Given the description of an element on the screen output the (x, y) to click on. 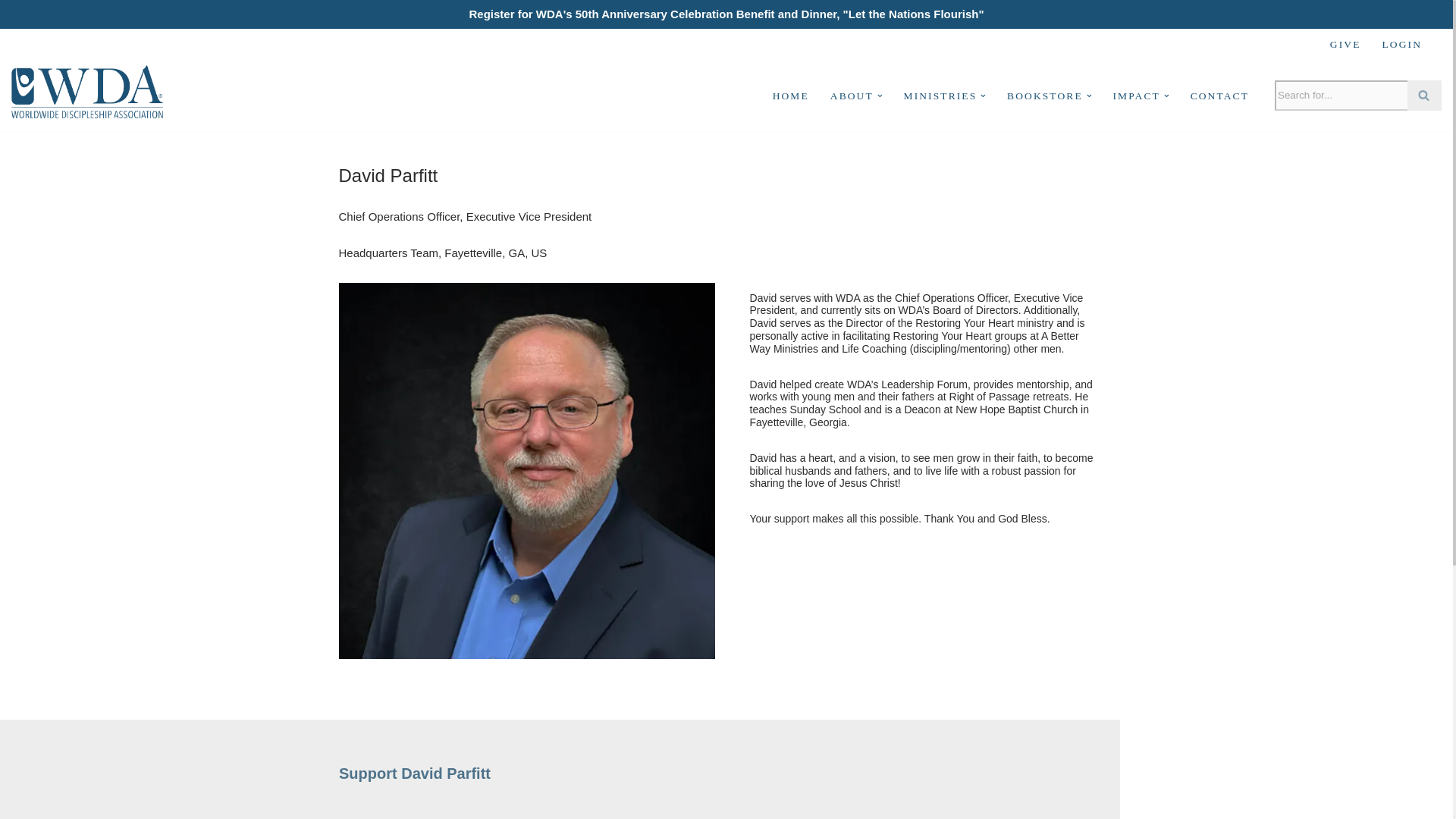
LOGIN (1401, 44)
CONTACT (1220, 94)
MINISTRIES (940, 94)
ABOUT (851, 94)
Skip to content (11, 60)
GIVE (1345, 44)
BOOKSTORE (1045, 94)
IMPACT (1136, 94)
HOME (791, 94)
